Given the description of an element on the screen output the (x, y) to click on. 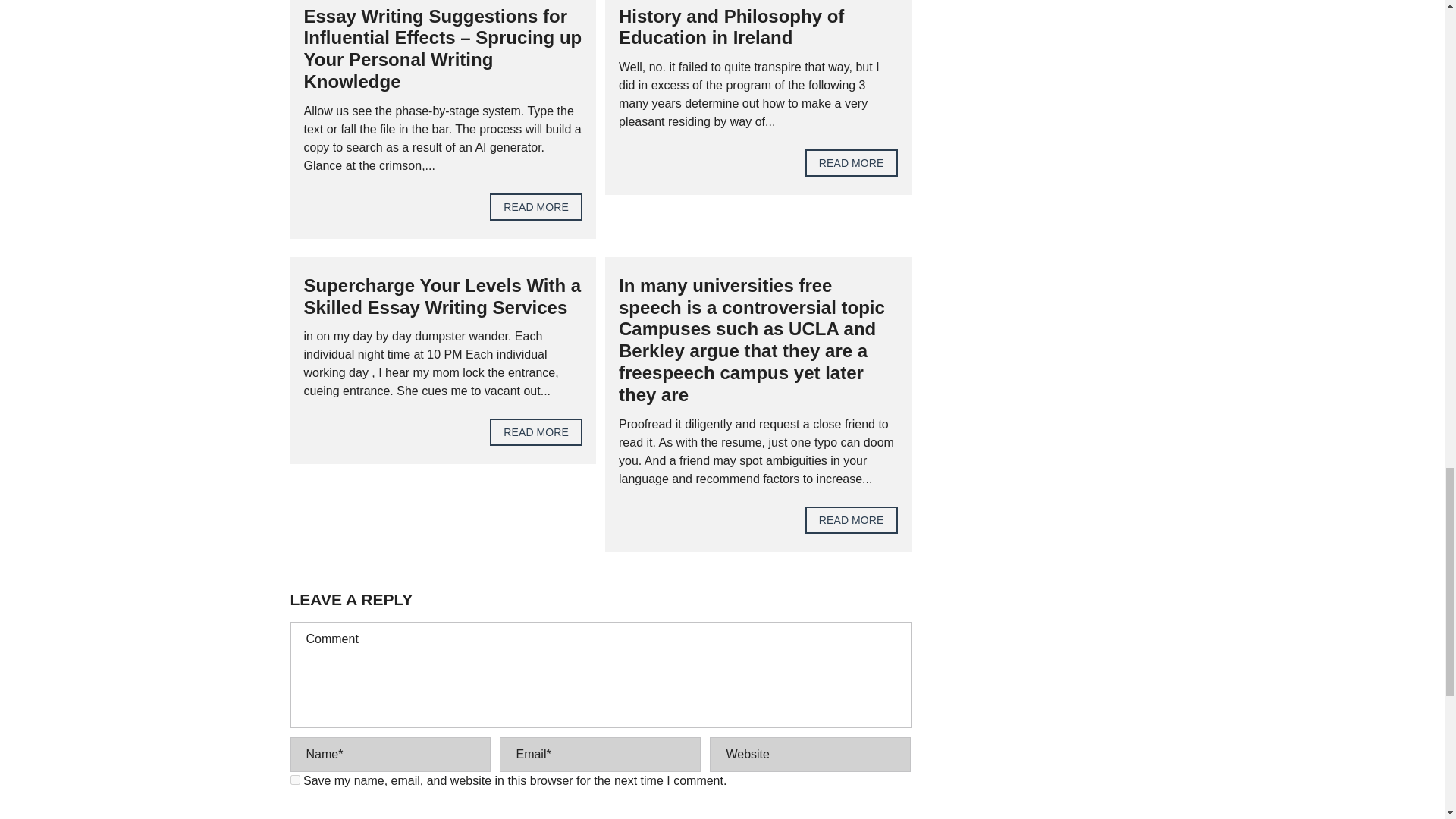
yes (294, 779)
History and Philosophy of Education in Ireland (851, 162)
READ MORE (851, 519)
History and Philosophy of Education in Ireland (731, 26)
READ MORE (851, 162)
